Given the description of an element on the screen output the (x, y) to click on. 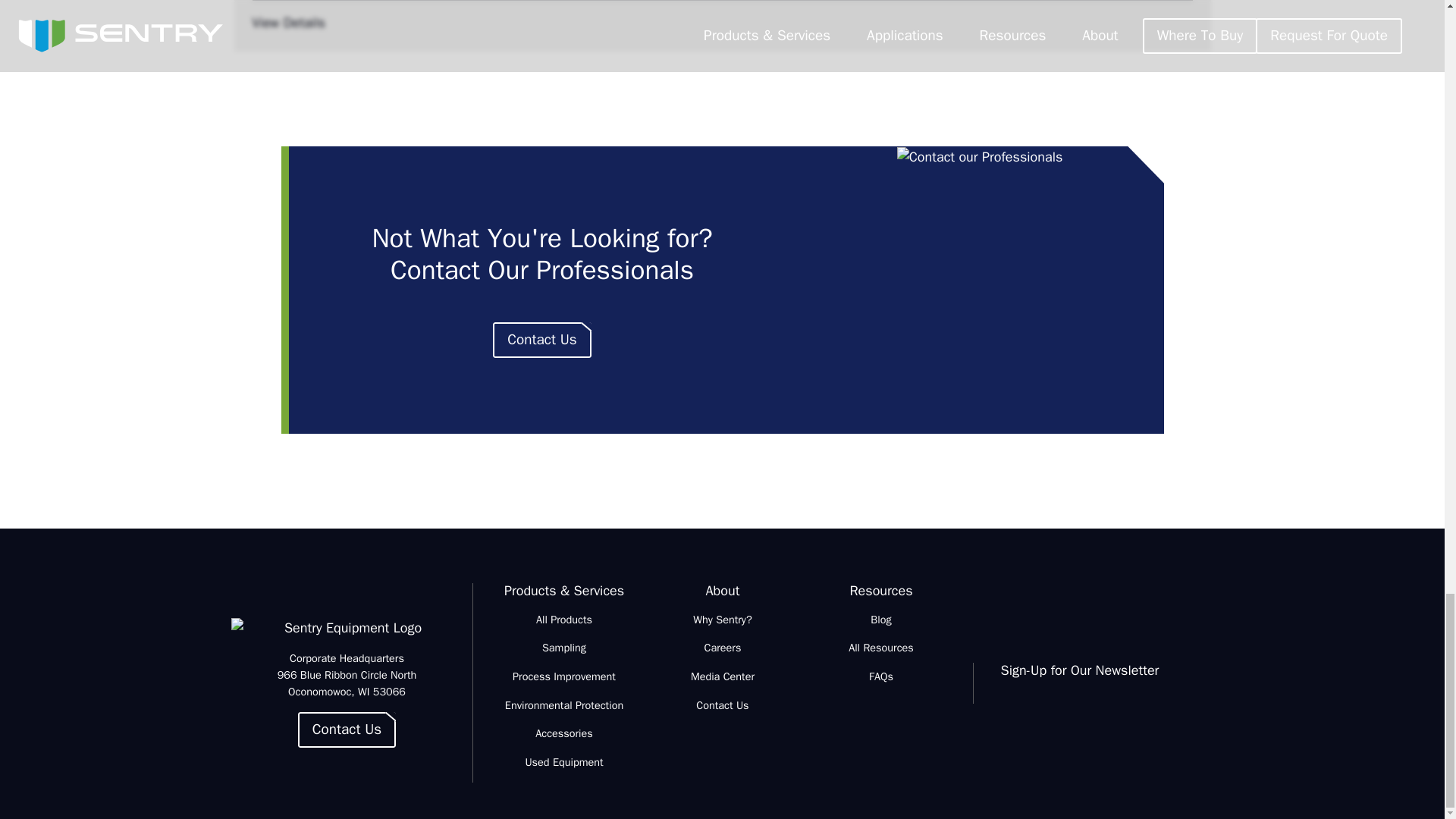
View Details (721, 23)
